Given the description of an element on the screen output the (x, y) to click on. 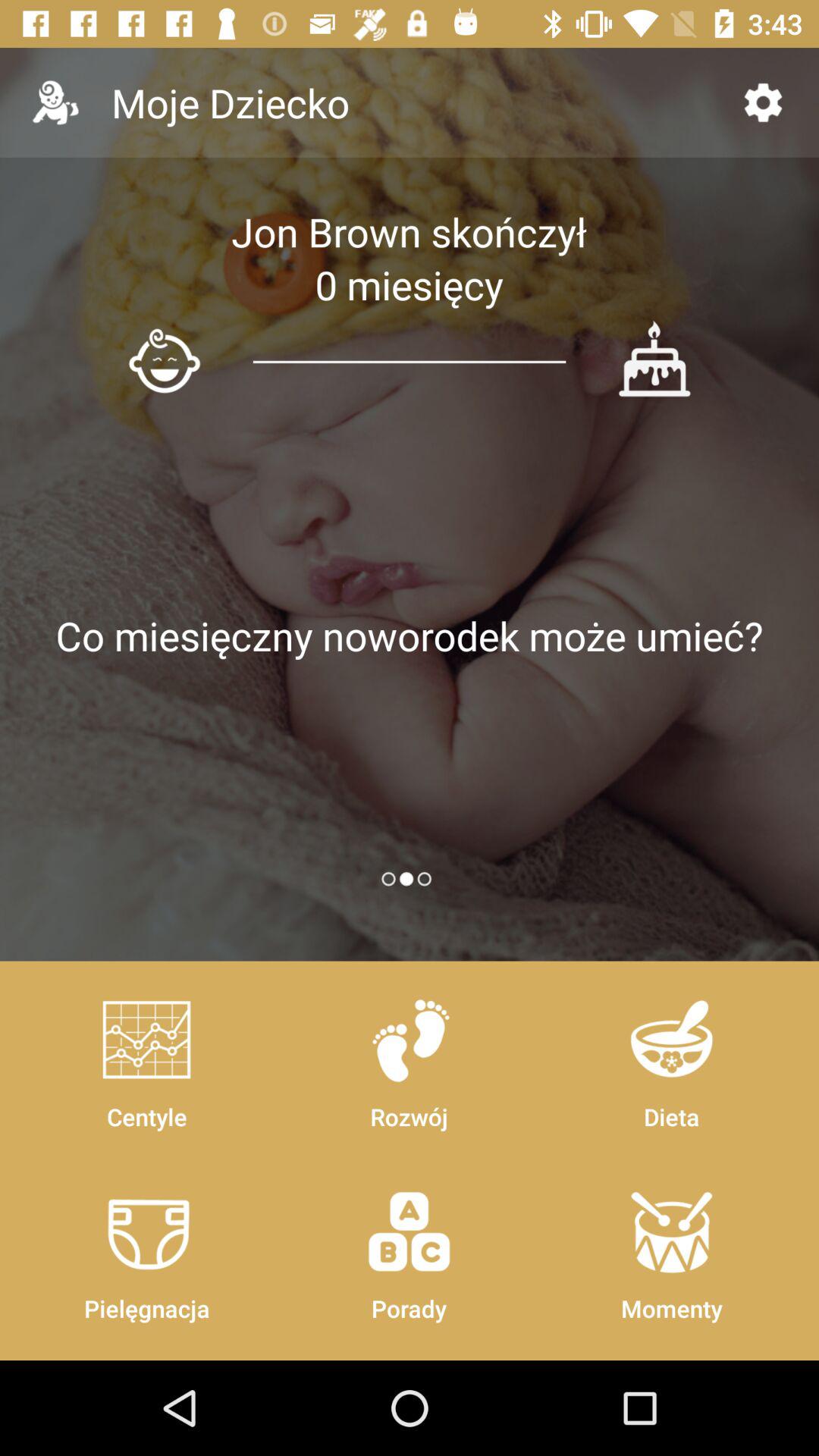
choose the momenty (671, 1248)
